Given the description of an element on the screen output the (x, y) to click on. 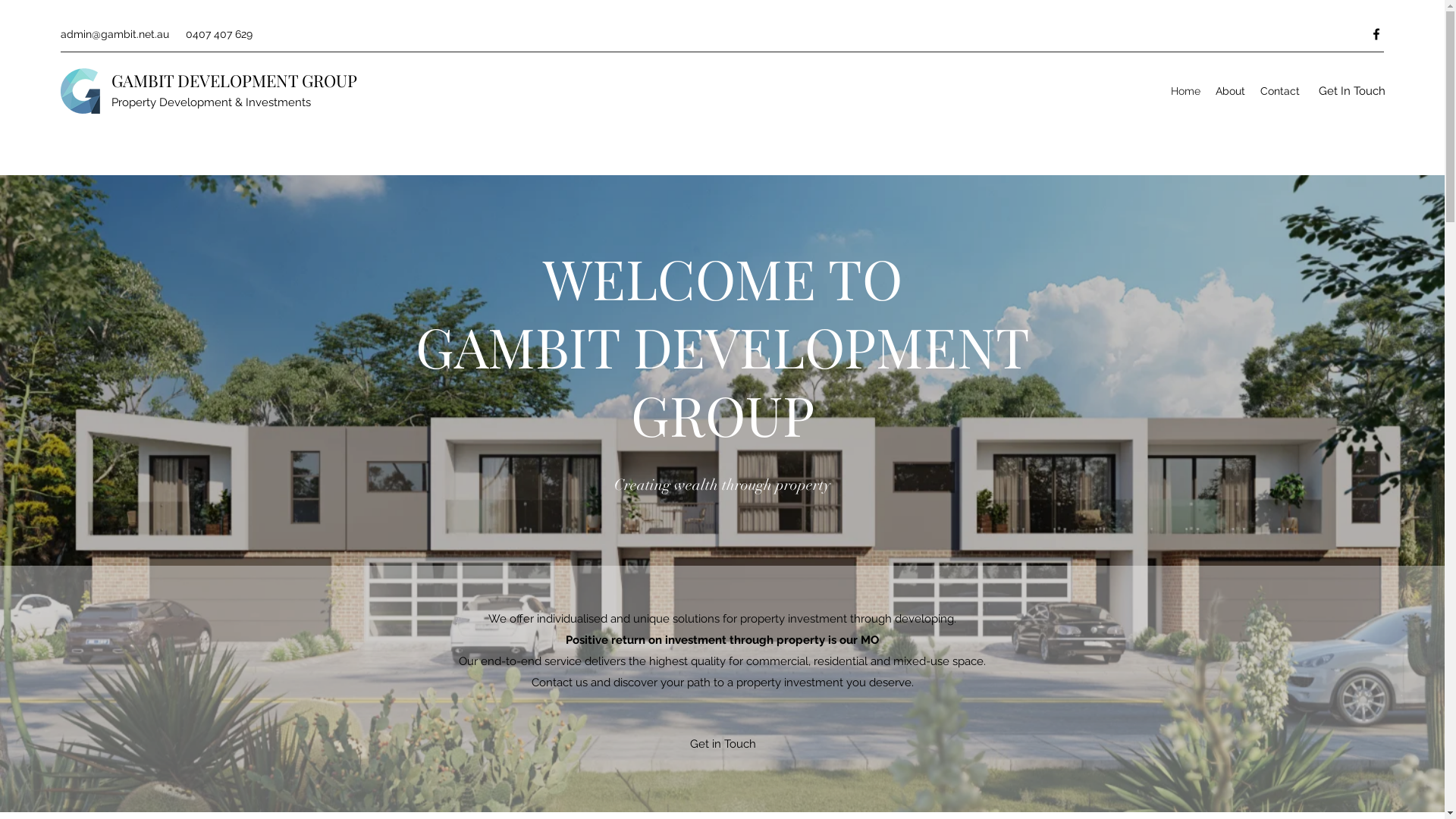
Home Element type: text (1185, 90)
Get in Touch Element type: text (723, 744)
GAMBIT DEVELOPMENT GROUP Element type: text (234, 80)
admin@gambit.net.au Element type: text (114, 34)
Contact Element type: text (1279, 90)
About Element type: text (1230, 90)
Get In Touch Element type: text (1351, 91)
